Given the description of an element on the screen output the (x, y) to click on. 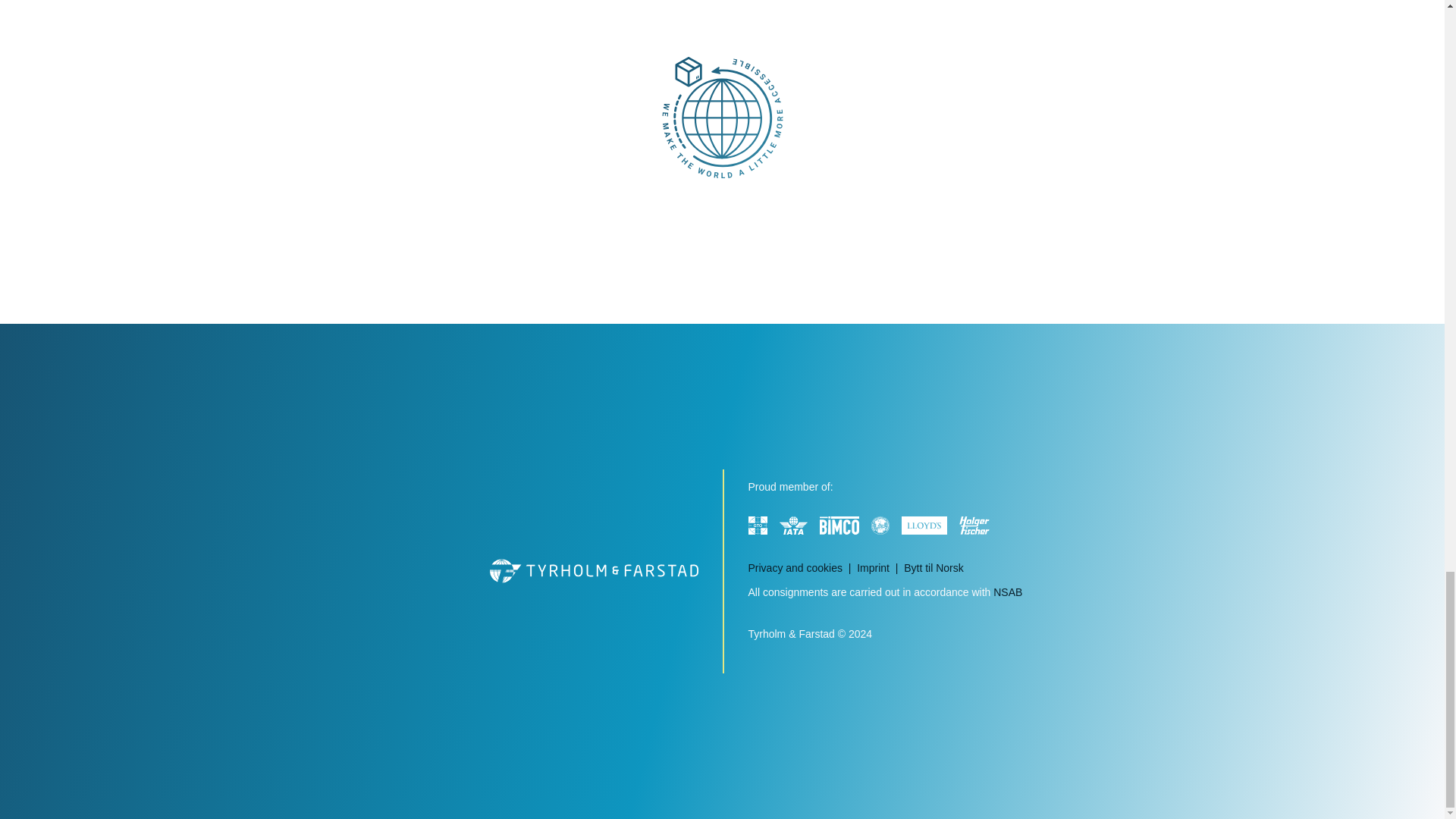
NSAB (1012, 592)
Imprint (880, 568)
Bytt til Norsk (939, 568)
Privacy and cookies (802, 568)
Read the terms of NSAB (1012, 592)
